Given the description of an element on the screen output the (x, y) to click on. 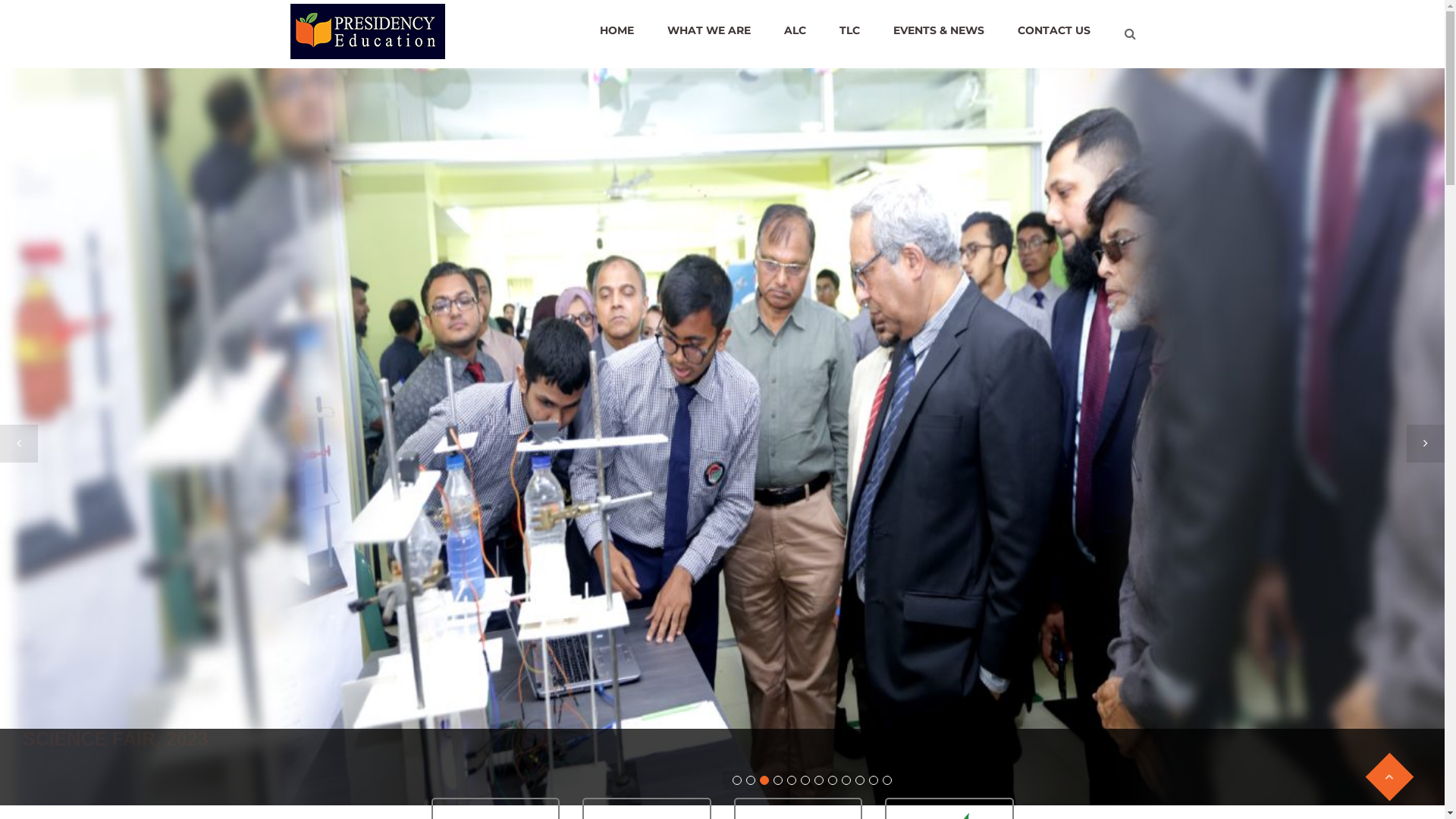
7 Element type: text (818, 779)
12 Element type: text (886, 779)
WHAT WE ARE Element type: text (708, 30)
11 Element type: text (873, 779)
Next Element type: text (1425, 443)
Prev Element type: text (18, 443)
EVENTS & NEWS Element type: text (938, 30)
ALC Element type: text (794, 30)
3 Element type: text (763, 779)
5 Element type: text (791, 779)
10 Element type: text (859, 779)
2 Element type: text (750, 779)
8 Element type: text (832, 779)
CONTACT US Element type: text (1053, 30)
TLC Element type: text (848, 30)
6 Element type: text (804, 779)
1 Element type: text (736, 779)
HOME Element type: text (615, 30)
9 Element type: text (845, 779)
4 Element type: text (777, 779)
